Given the description of an element on the screen output the (x, y) to click on. 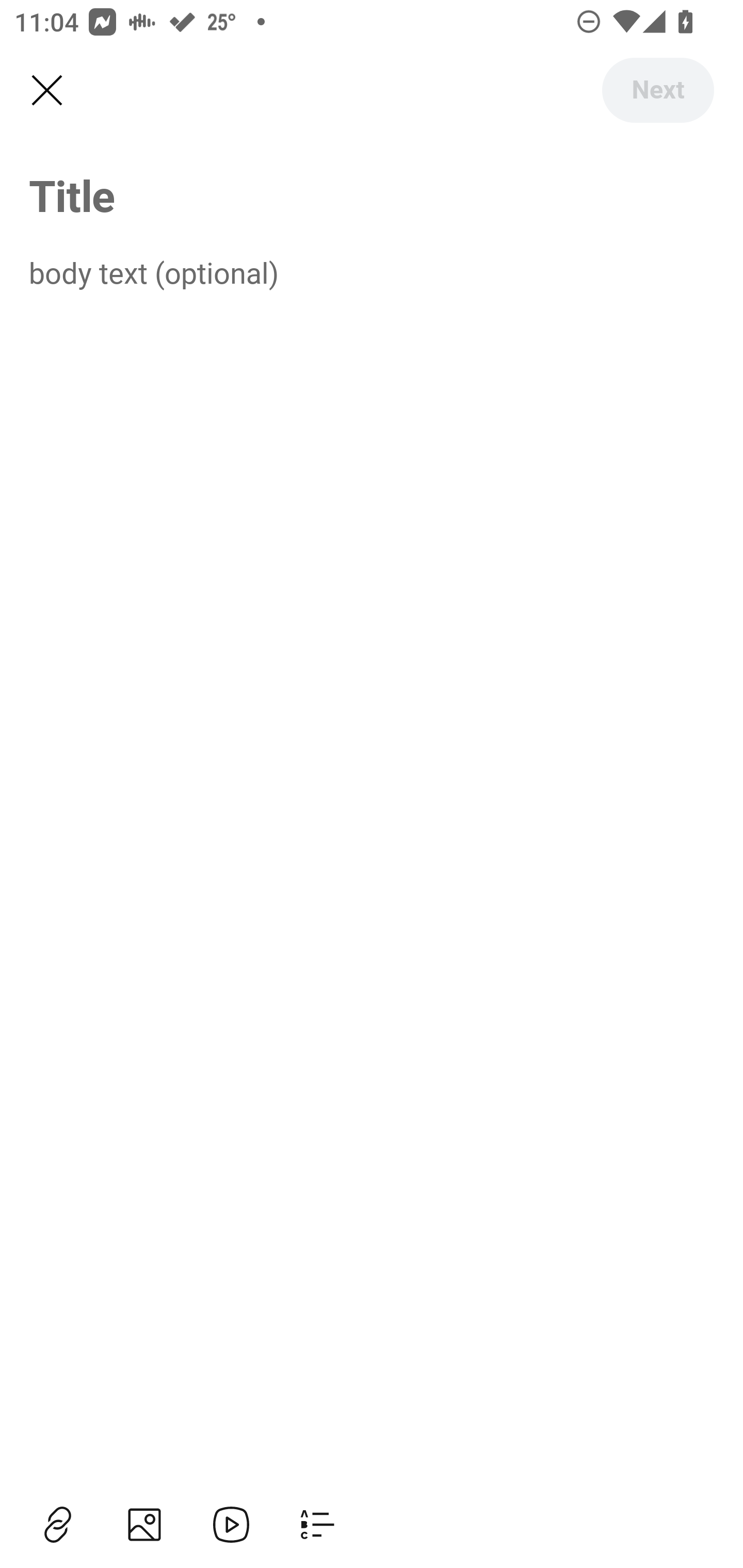
Close (46, 90)
Next (657, 90)
Post title (371, 195)
body text (optional) (371, 271)
